Given the description of an element on the screen output the (x, y) to click on. 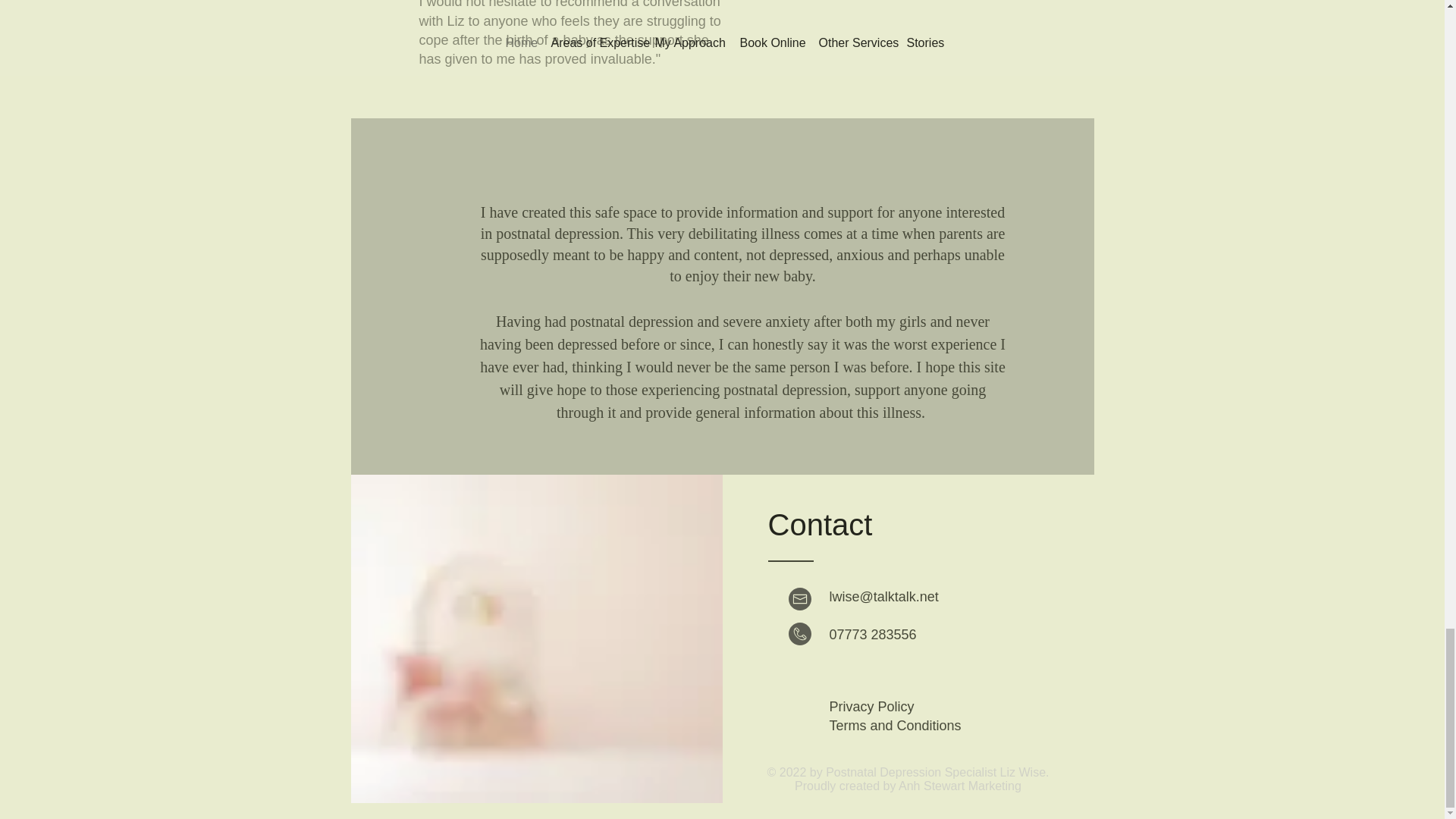
Proudly created by Anh Stewart Marketing (908, 785)
Terms and Conditions (894, 725)
Privacy Policy (871, 706)
